Given the description of an element on the screen output the (x, y) to click on. 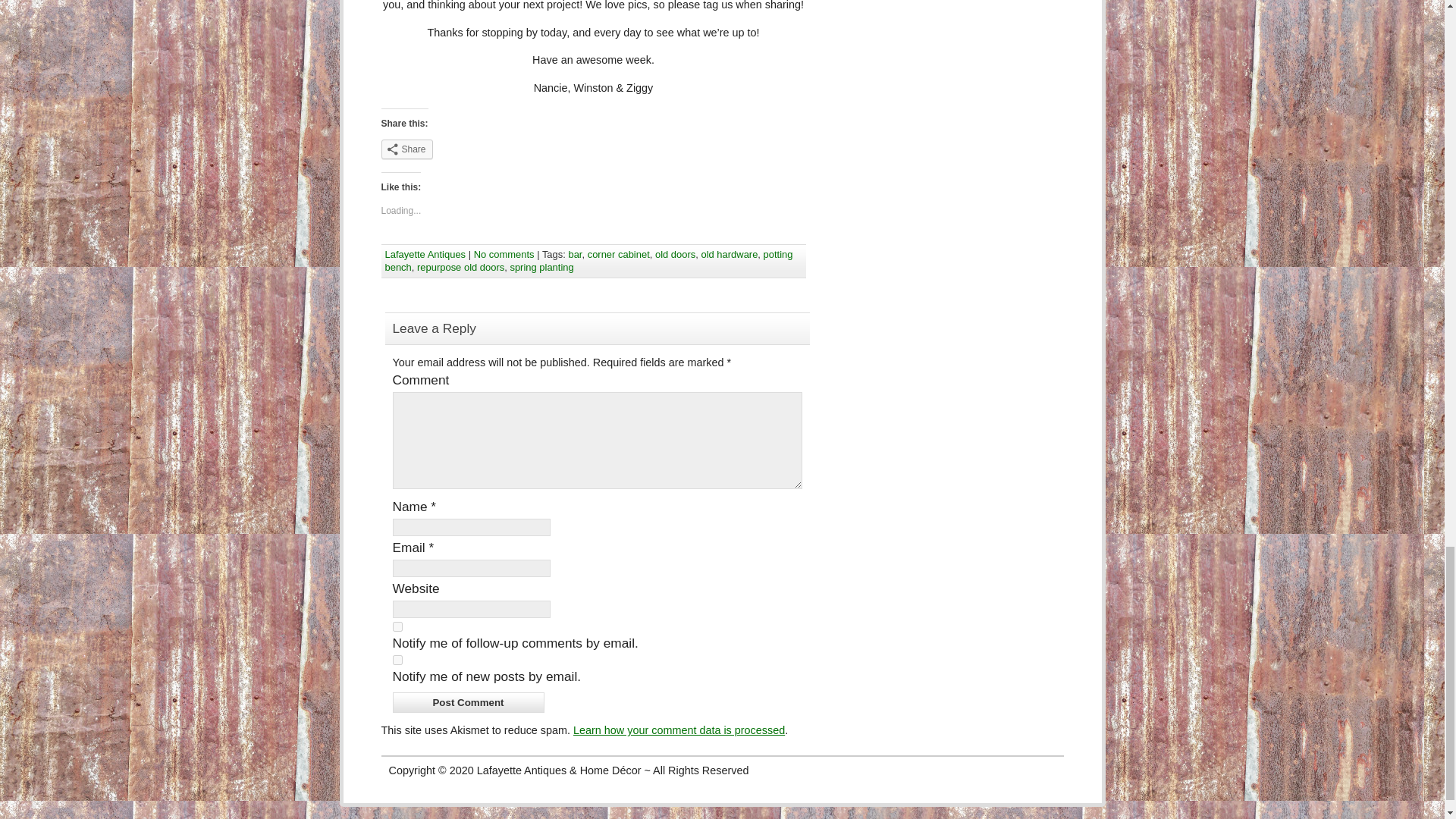
Post Comment (468, 702)
bar (573, 254)
Posts by Lafayette Antiques (425, 254)
subscribe (398, 660)
subscribe (398, 626)
Lafayette Antiques (425, 254)
corner cabinet (618, 254)
No comments (504, 254)
Learn how your comment data is processed (678, 729)
potting bench (589, 260)
